Given the description of an element on the screen output the (x, y) to click on. 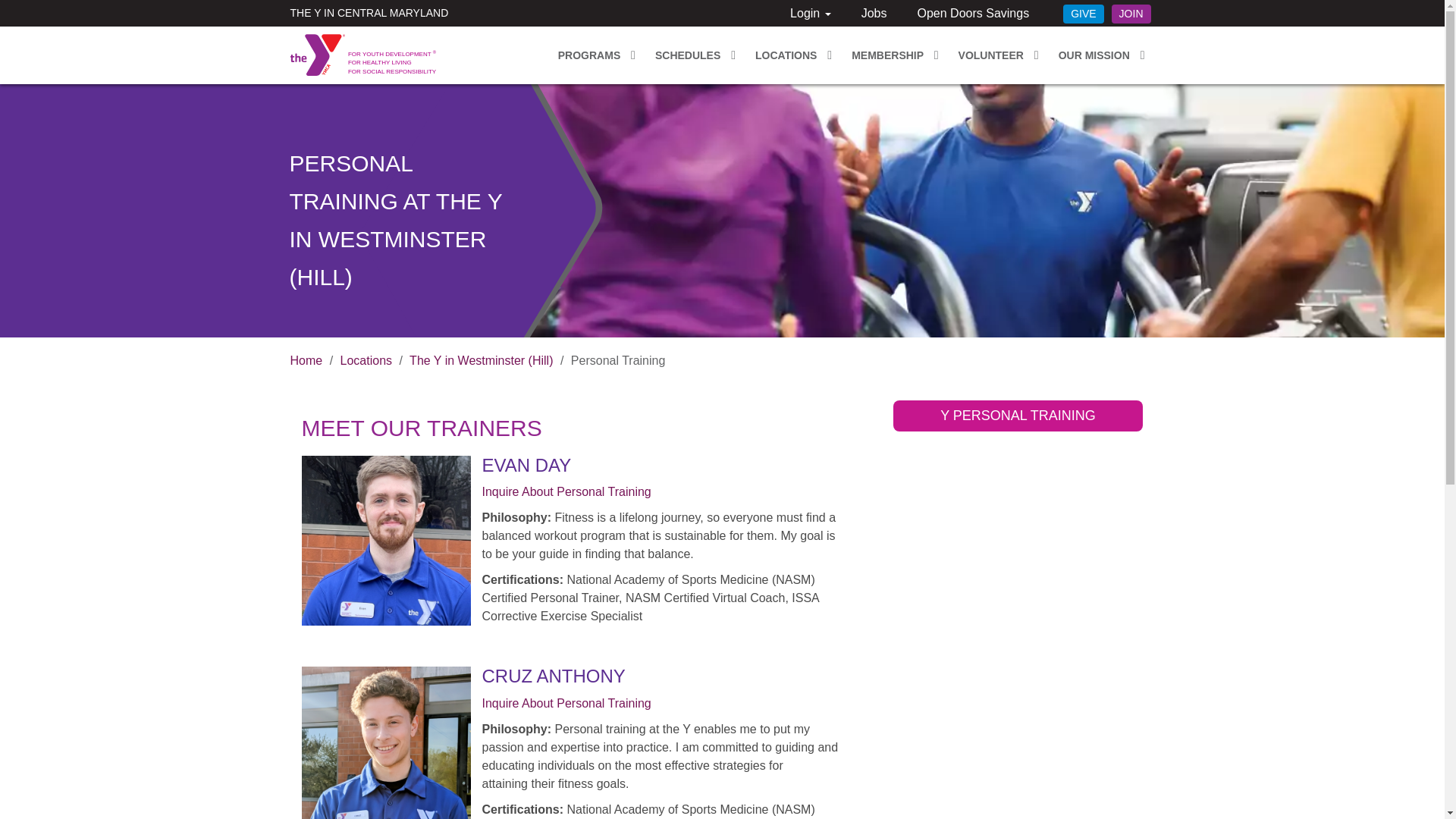
Inquire about training with Evan (565, 491)
Home (316, 55)
Inquire about training with Cruz (565, 703)
